Given the description of an element on the screen output the (x, y) to click on. 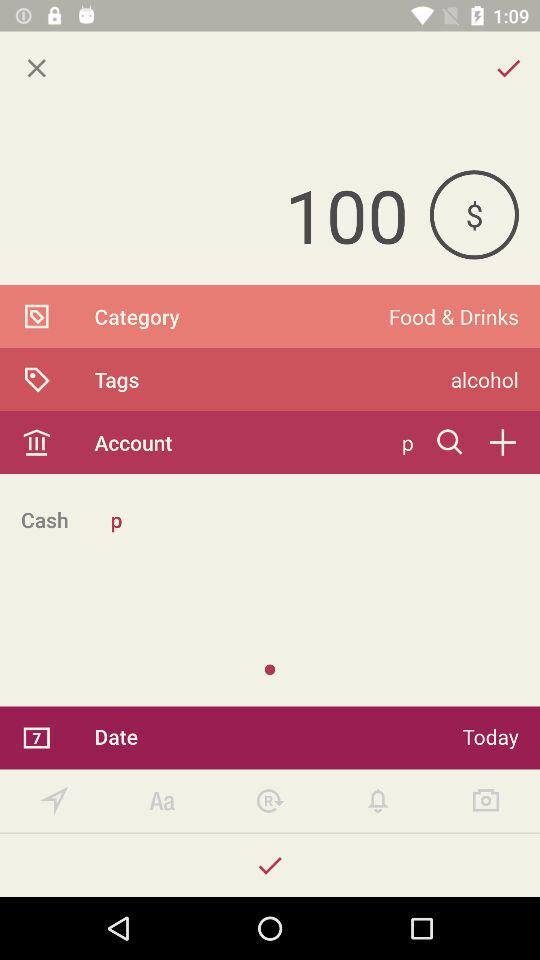
save (270, 865)
